Given the description of an element on the screen output the (x, y) to click on. 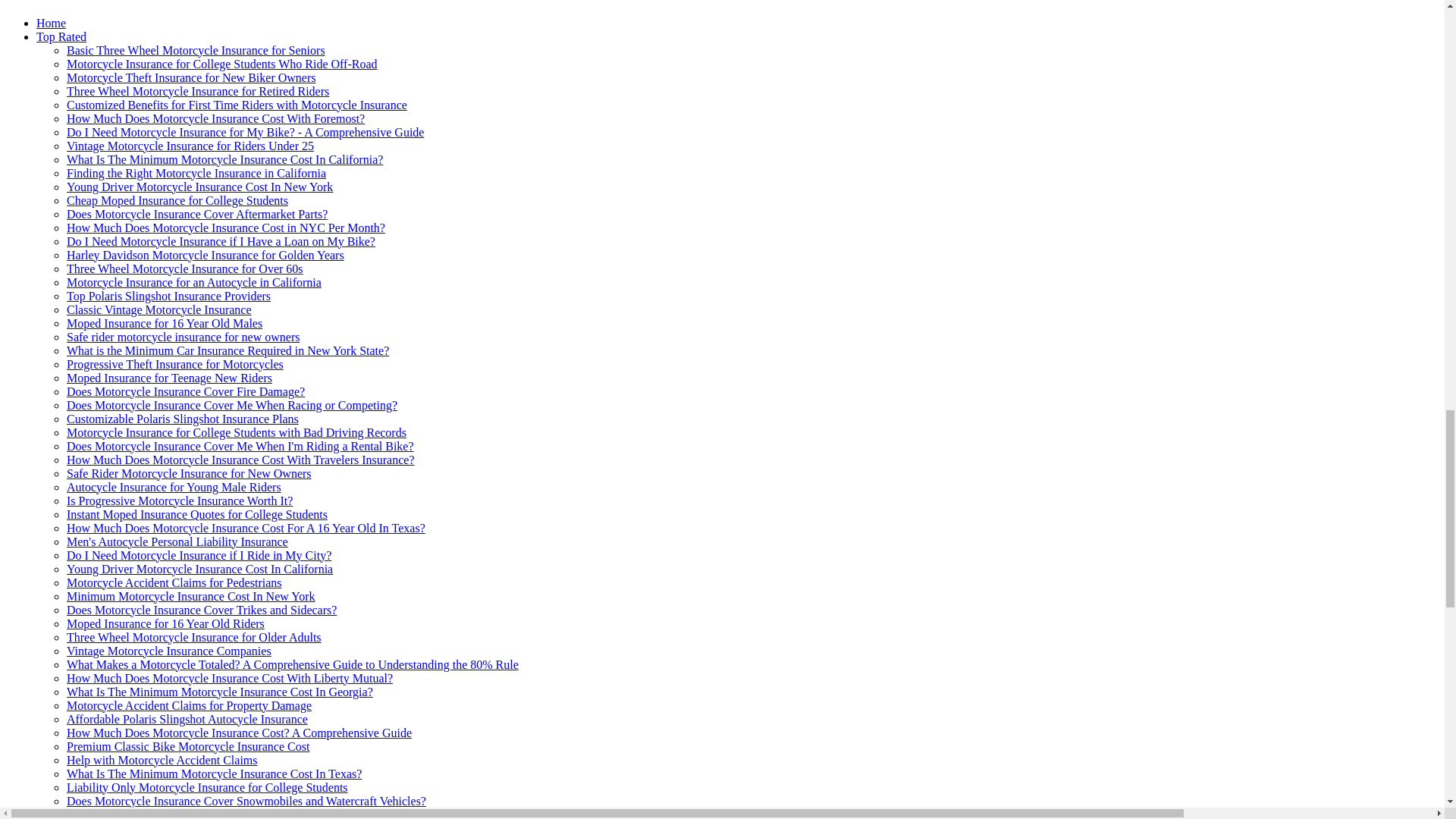
Motorcycle Insurance for College Students Who Ride Off-Road (221, 63)
Basic Three Wheel Motorcycle Insurance for Seniors (195, 50)
Top Rated (60, 36)
Three Wheel Motorcycle Insurance for Retired Riders (197, 91)
Motorcycle Theft Insurance for New Biker Owners (190, 77)
How Much Does Motorcycle Insurance Cost With Foremost? (215, 118)
Home (50, 22)
